Given the description of an element on the screen output the (x, y) to click on. 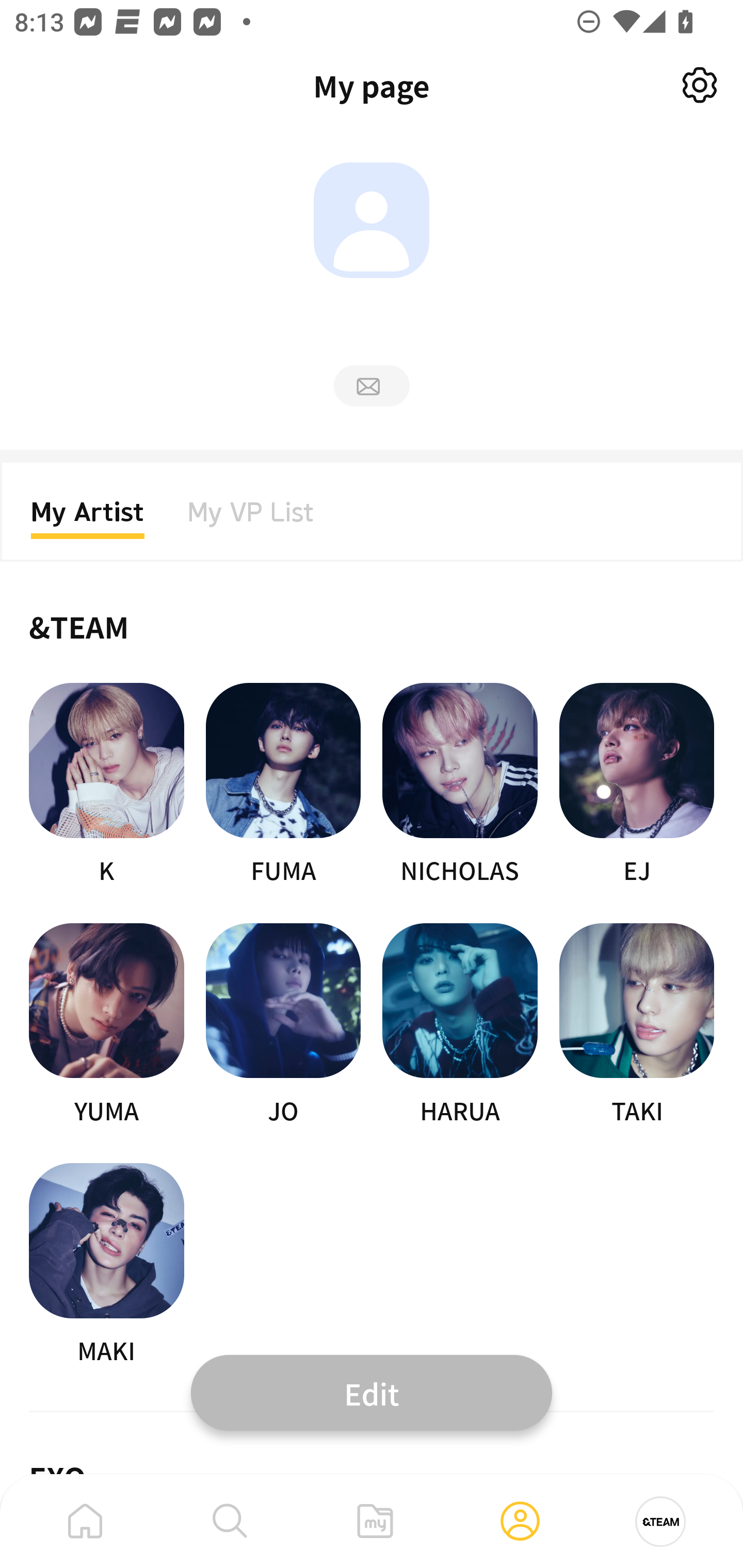
My Artist (87, 517)
My VP List (250, 517)
K (106, 785)
FUMA (282, 785)
NICHOLAS (459, 785)
EJ (636, 785)
YUMA (106, 1025)
JO (282, 1025)
HARUA (459, 1025)
TAKI (636, 1025)
MAKI (106, 1265)
Edit (371, 1392)
